Given the description of an element on the screen output the (x, y) to click on. 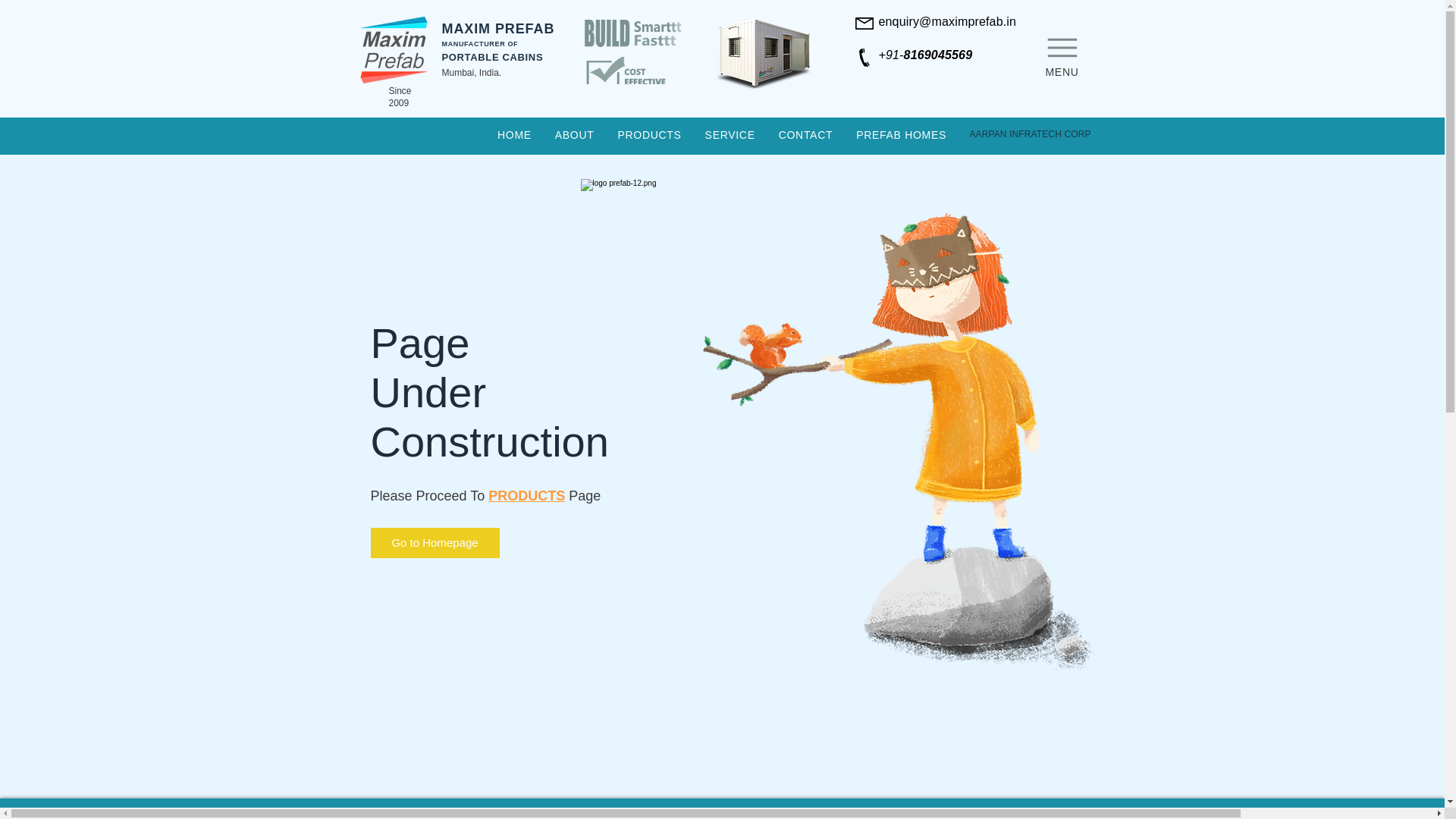
MENU (1061, 52)
PRODUCTS (649, 134)
PREFAB HOMES (901, 134)
HOME (513, 134)
CONTACT (805, 134)
SERVICE (728, 134)
ABOUT (574, 134)
